Given the description of an element on the screen output the (x, y) to click on. 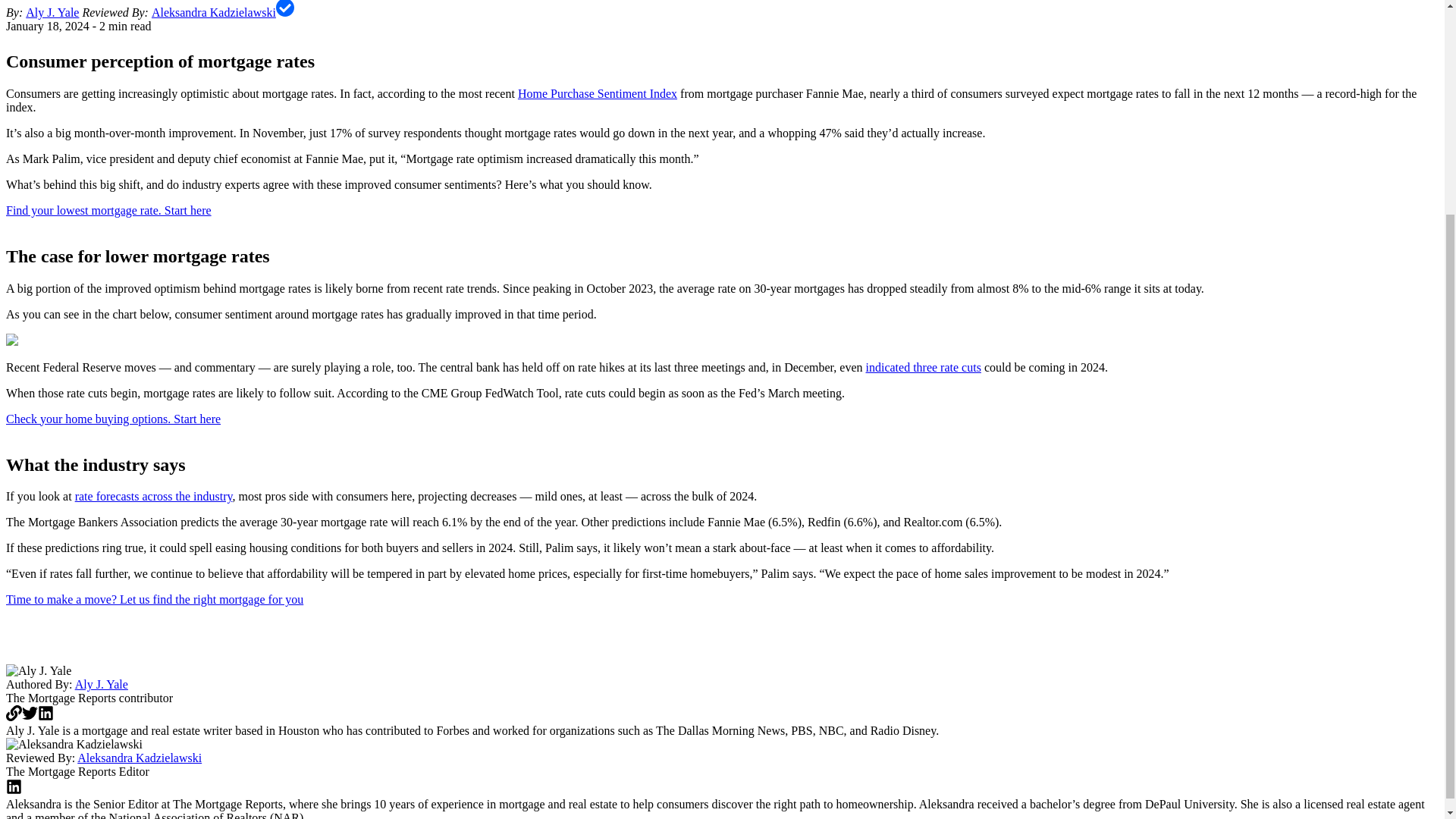
By Aly J. Yale (52, 11)
Reviewed By Aleksandra Kadzielawski (213, 11)
